Given the description of an element on the screen output the (x, y) to click on. 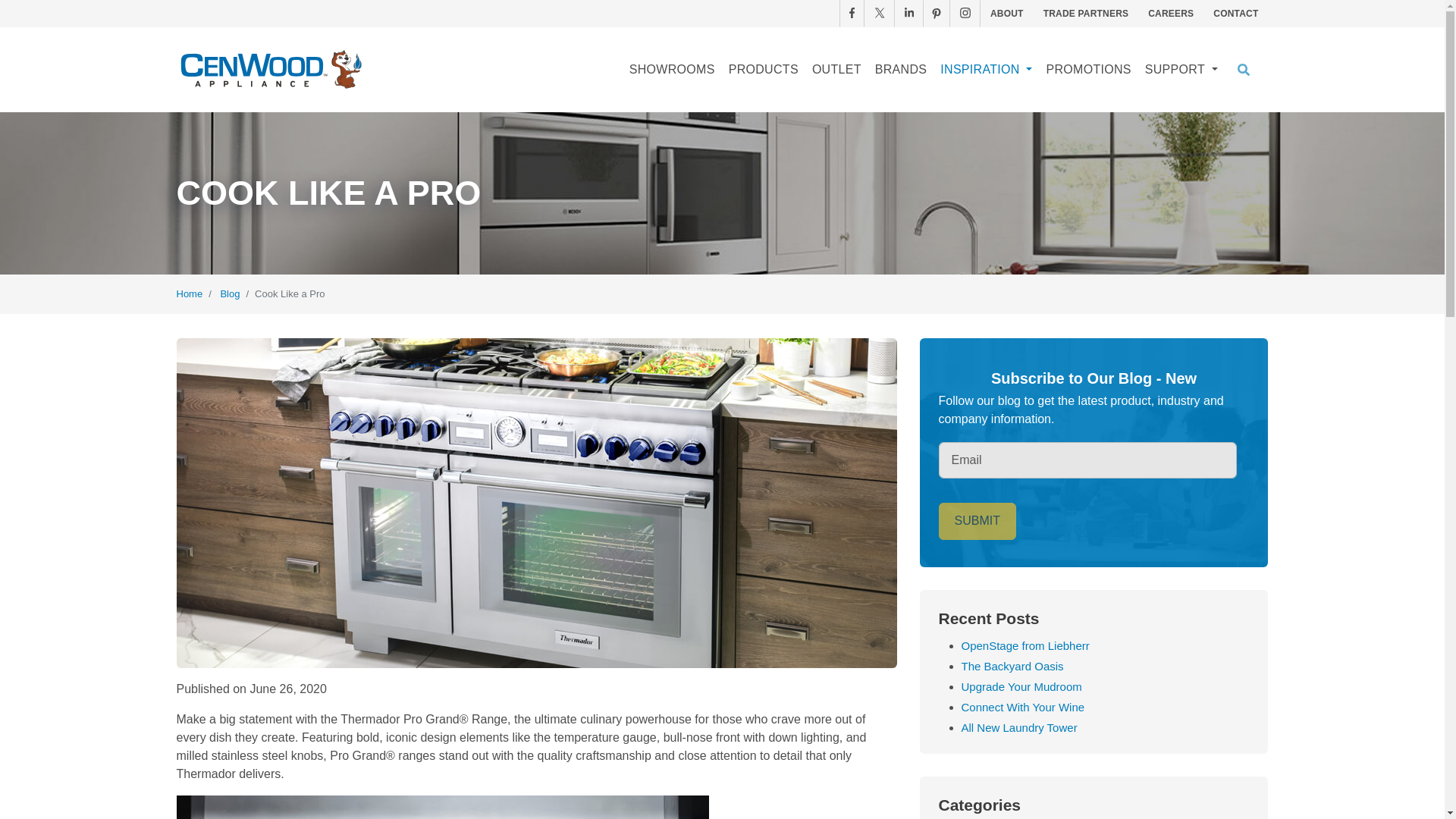
BRANDS (900, 69)
OUTLET (836, 69)
CONTACT (1236, 13)
Submit (977, 520)
CenWood Appliance logo (271, 69)
INSPIRATION (986, 69)
PRODUCTS (763, 69)
TRADE PARTNERS (1085, 13)
CAREERS (1171, 13)
SHOWROOMS (672, 69)
SUPPORT (1181, 69)
PROMOTIONS (1088, 69)
ABOUT (1006, 13)
